Given the description of an element on the screen output the (x, y) to click on. 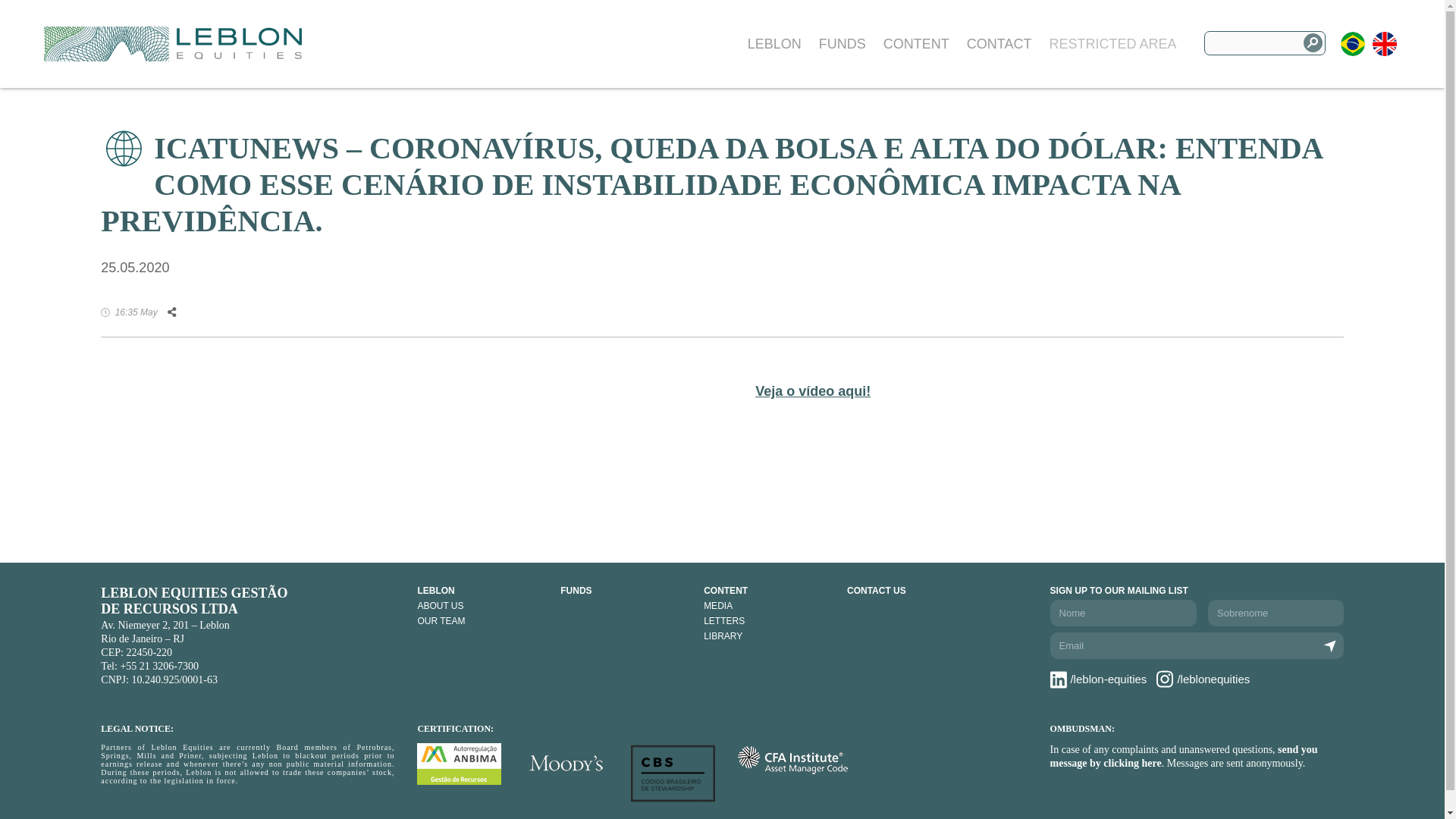
CONTENT (767, 590)
Search (1312, 42)
RESTRICTED AREA (1112, 44)
LEBLON (480, 590)
FUNDS (624, 590)
FUNDS (842, 44)
LEBLON (775, 44)
Search (1312, 42)
CONTACT (999, 44)
Enviar (1329, 645)
